Given the description of an element on the screen output the (x, y) to click on. 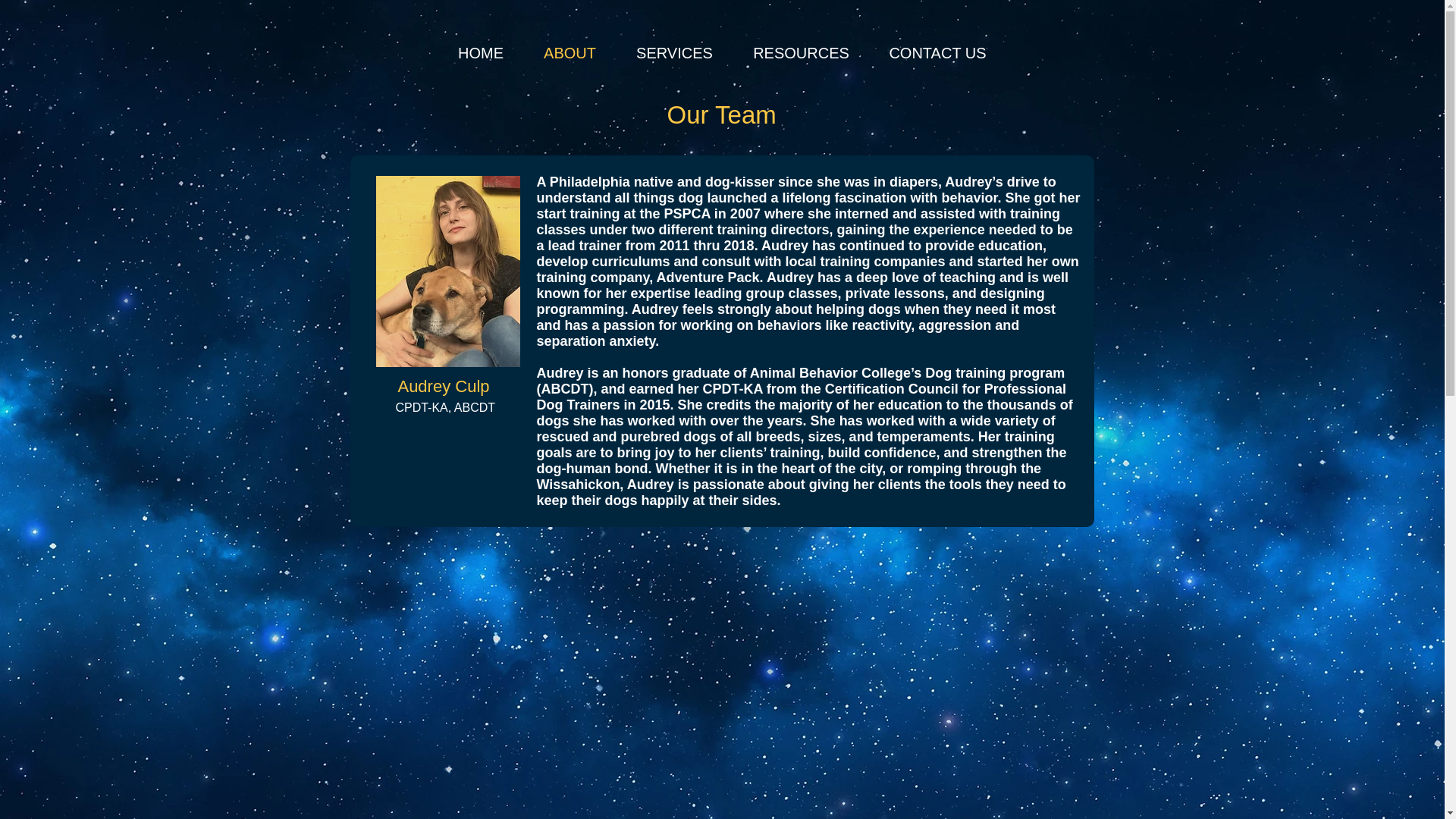
ABOUT (568, 53)
CONTACT US (937, 53)
HOME (481, 53)
RESOURCES (800, 53)
SERVICES (673, 53)
